Given the description of an element on the screen output the (x, y) to click on. 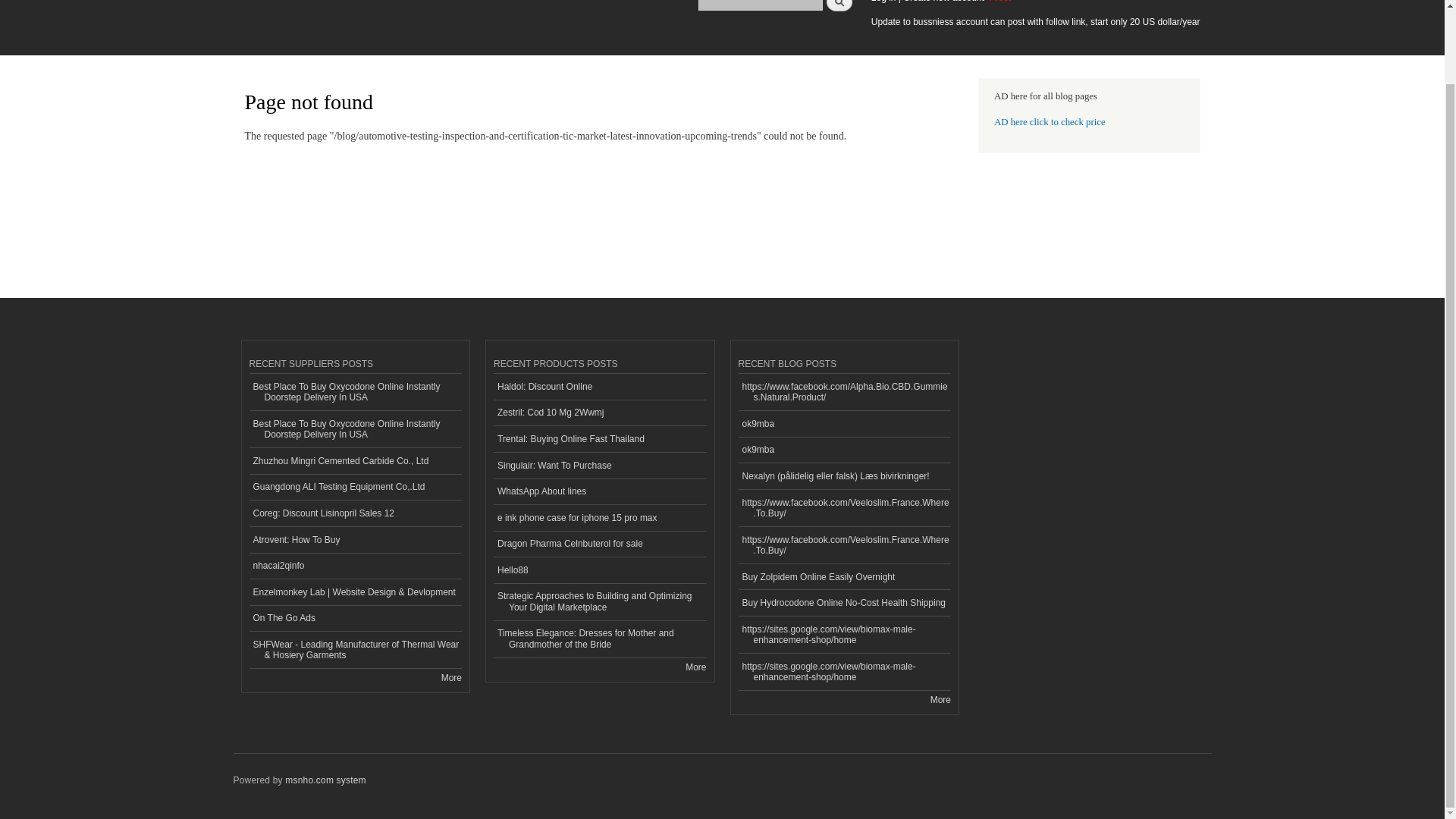
More (451, 677)
e ink phone case for iphone 15 pro max (599, 518)
Search (839, 5)
Read the latest blog entries. (940, 699)
More (695, 666)
Zestril: Cod 10 Mg 2Wwmj (599, 413)
AD here click to check price (1049, 122)
Singulair: Want To Purchase (599, 465)
Guangdong ALI Testing Equipment Co,.Ltd (354, 488)
nhacai2qinfo (354, 566)
On The Go Ads (354, 619)
Read the latest products entries. (695, 666)
